Given the description of an element on the screen output the (x, y) to click on. 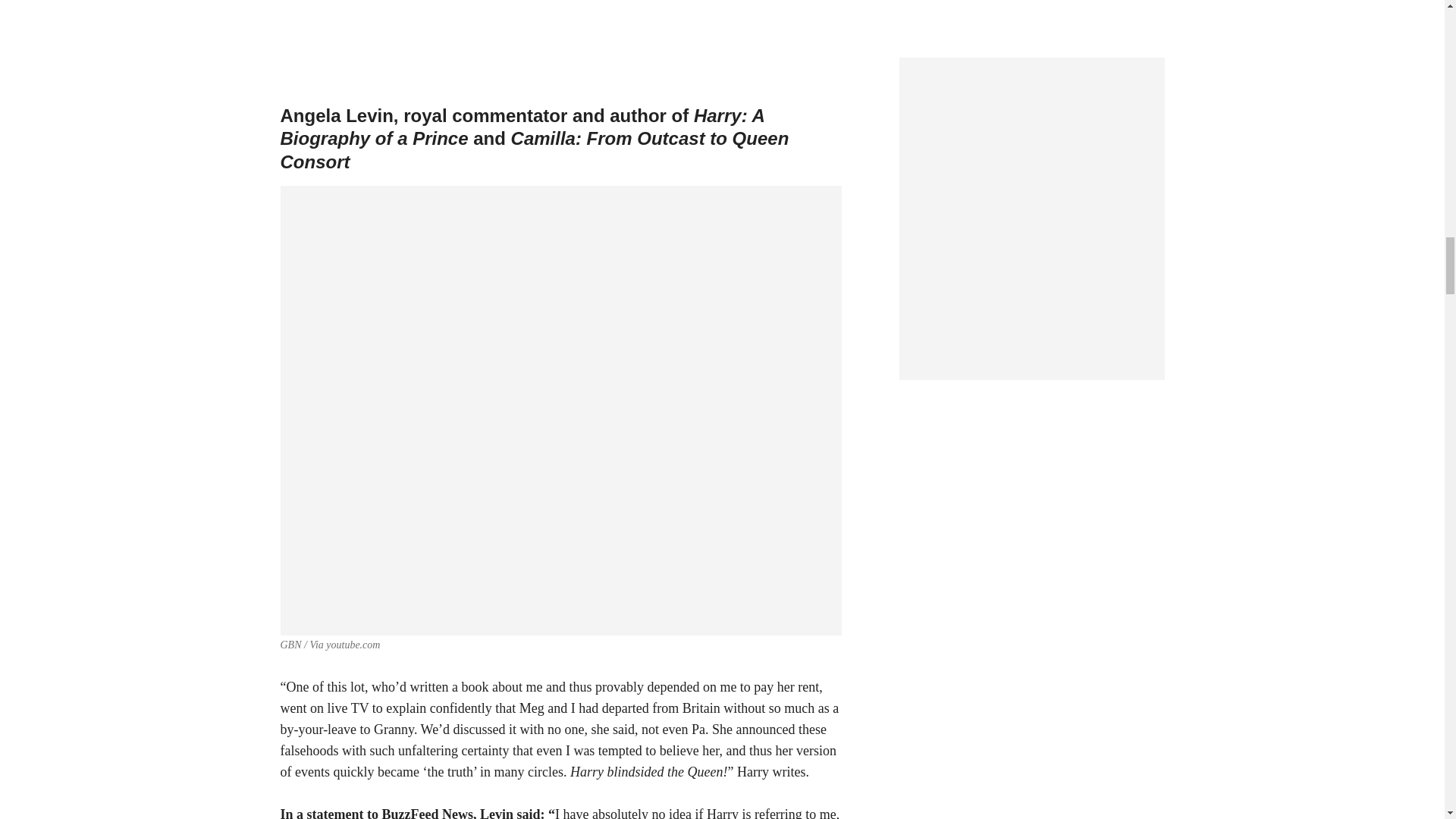
youtube.com (353, 644)
